Given the description of an element on the screen output the (x, y) to click on. 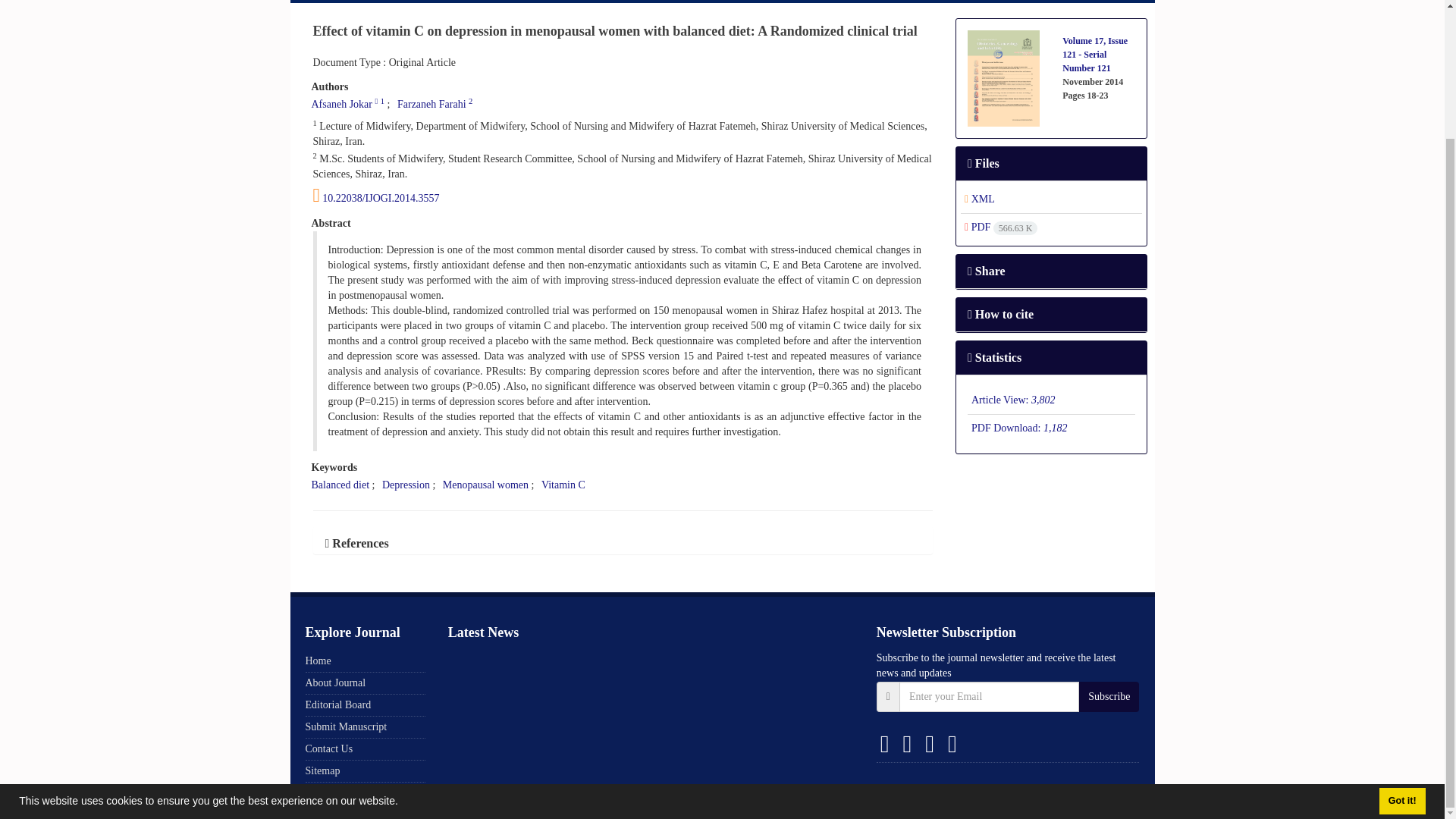
Guide for Authors (539, 1)
Browse (371, 1)
Menopausal women (485, 484)
Home (313, 1)
Login (1058, 1)
Got it! (1401, 644)
Submit Manuscript (640, 1)
Reviewers (726, 1)
Contact Us (795, 1)
DOI (623, 195)
Afsaneh Jokar (341, 103)
Journal Info (446, 1)
References (356, 543)
Balanced diet (340, 484)
PERSIAN (1120, 1)
